Given the description of an element on the screen output the (x, y) to click on. 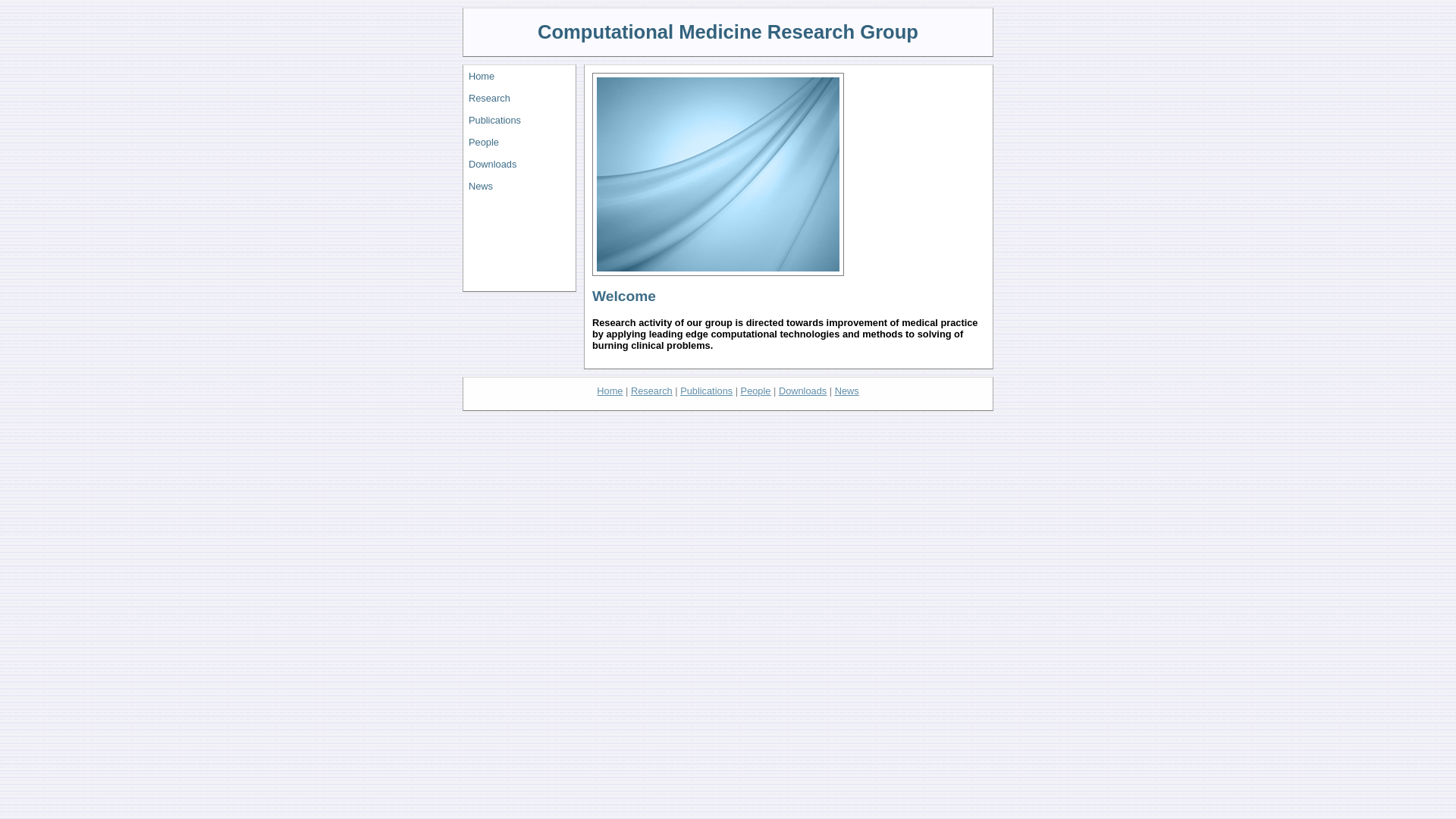
Downloads Element type: text (519, 163)
Home Element type: text (519, 75)
News Element type: text (519, 185)
Publications Element type: text (519, 119)
People Element type: text (755, 390)
Research Element type: text (651, 390)
Research Element type: text (519, 97)
News Element type: text (846, 390)
People Element type: text (519, 141)
Publications Element type: text (706, 390)
Home Element type: text (609, 390)
Downloads Element type: text (802, 390)
